Given the description of an element on the screen output the (x, y) to click on. 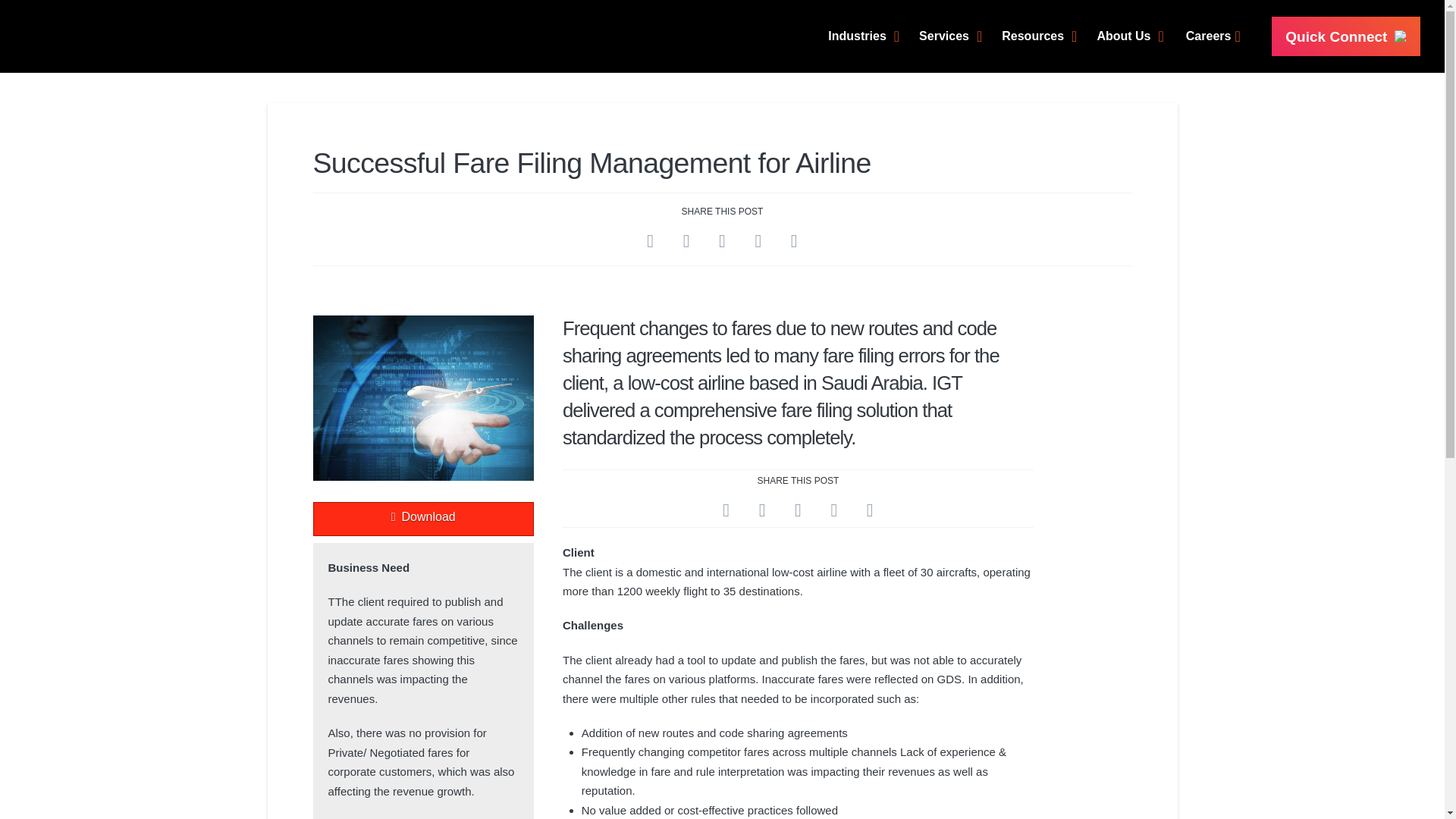
Share on Reddit (833, 510)
Share on Facebook (725, 510)
Share via Email (869, 510)
Share on Facebook (649, 240)
Share on Reddit (757, 240)
Share on X (761, 510)
Careers (1219, 36)
Share on LinkedIn (721, 240)
Share on LinkedIn (797, 510)
Download (422, 519)
